Given the description of an element on the screen output the (x, y) to click on. 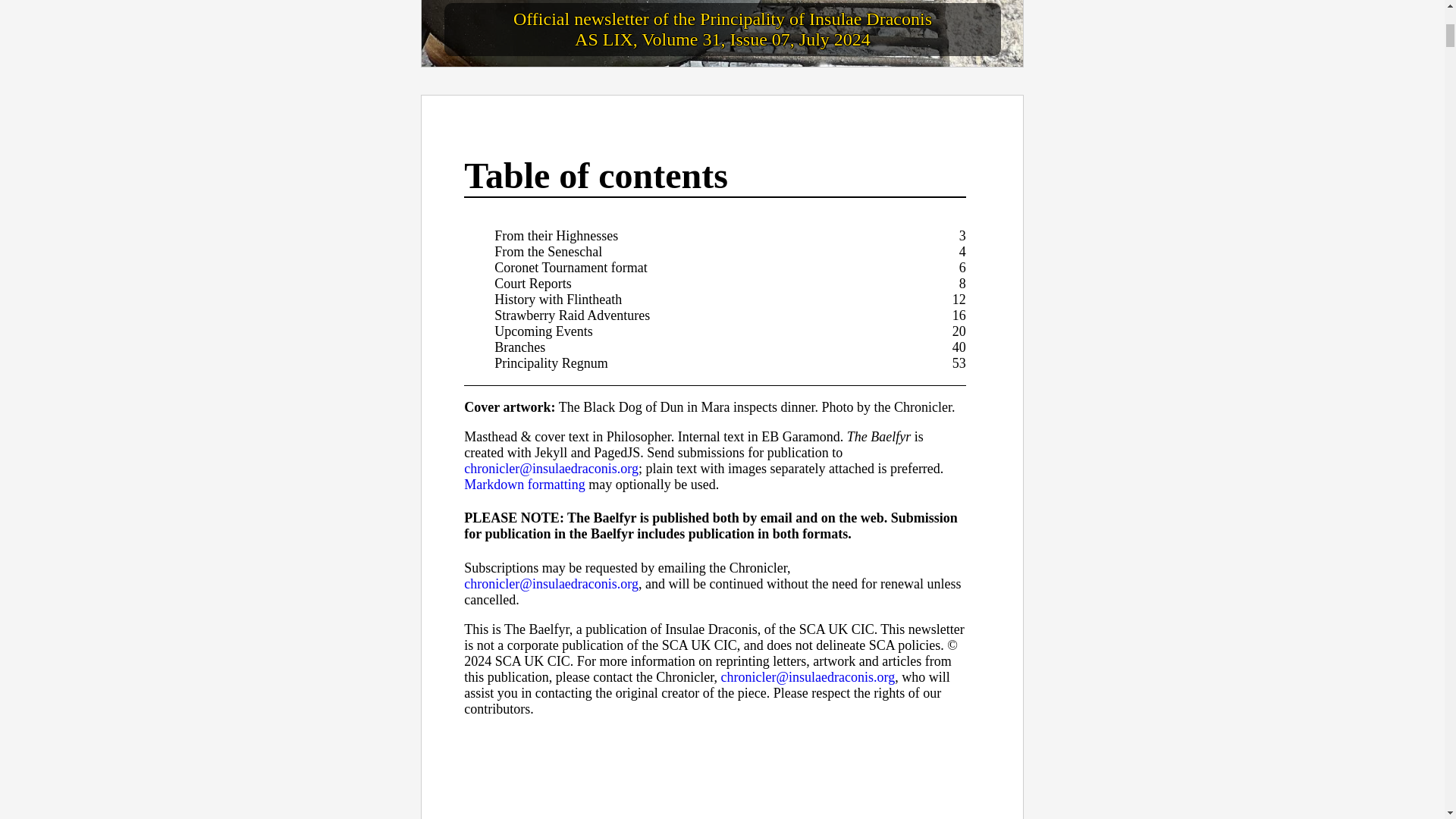
Markdown formatting (524, 484)
